Given the description of an element on the screen output the (x, y) to click on. 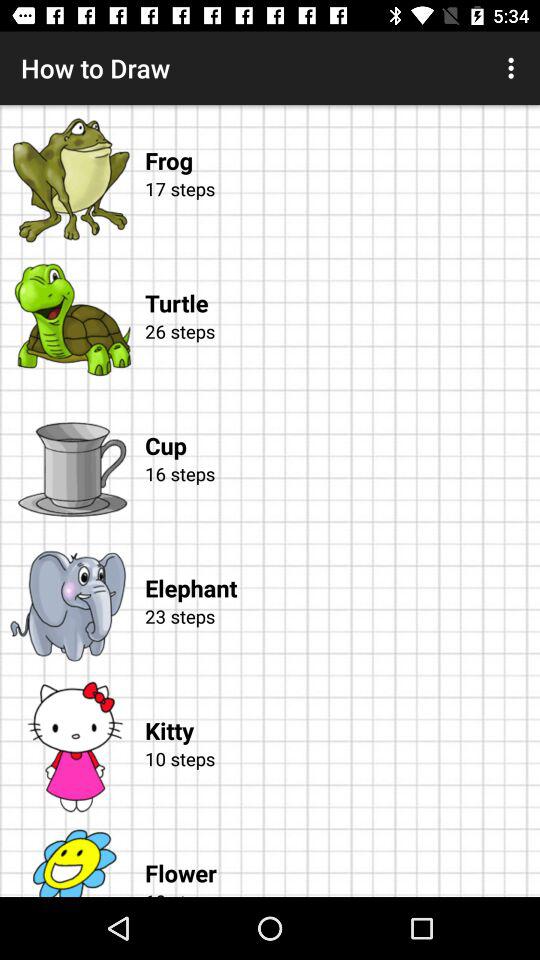
launch icon below the elephant (339, 639)
